Given the description of an element on the screen output the (x, y) to click on. 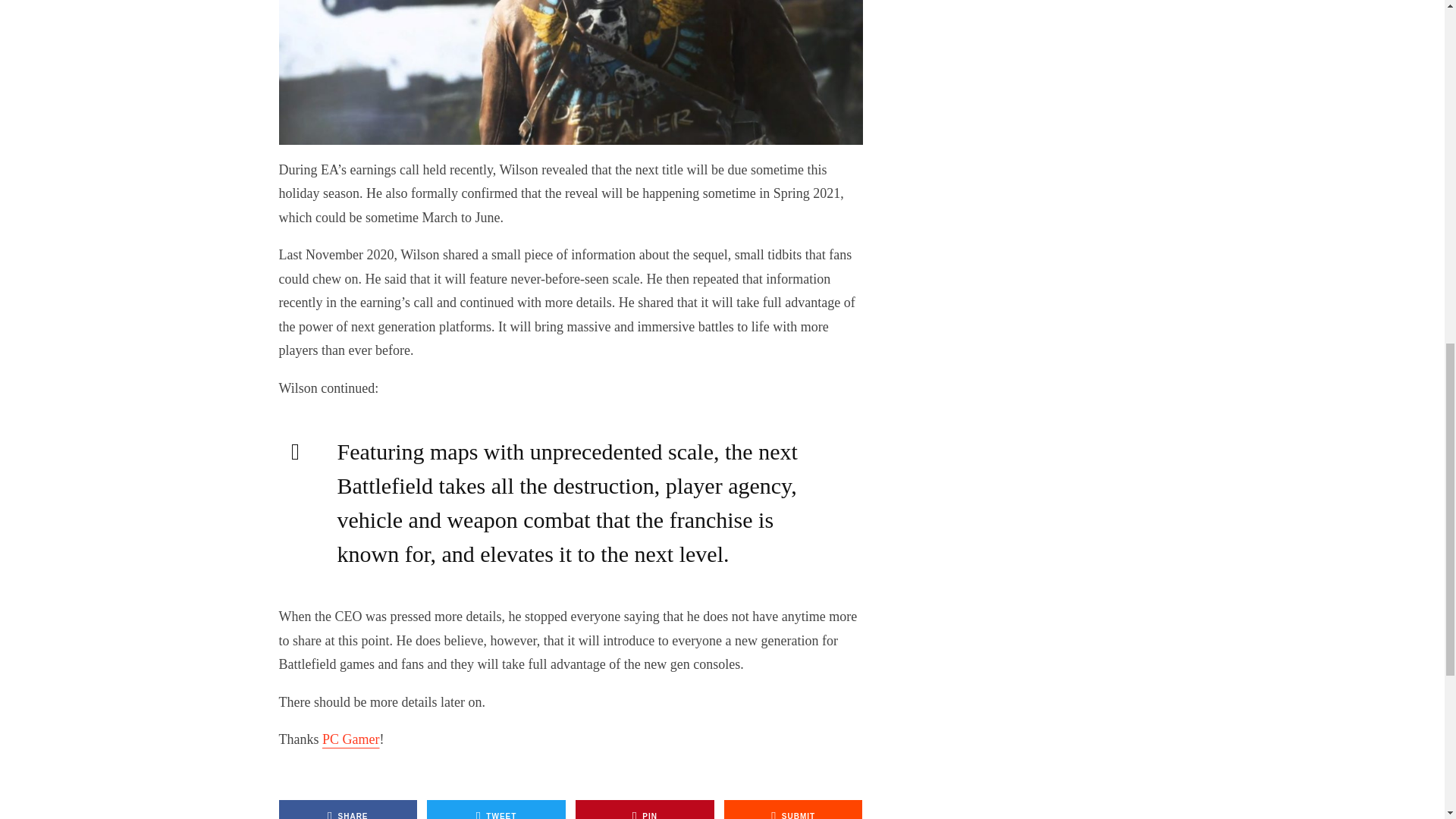
TWEET (496, 809)
PIN (644, 809)
SUBMIT (793, 809)
SHARE (348, 809)
PC Gamer (350, 739)
